Given the description of an element on the screen output the (x, y) to click on. 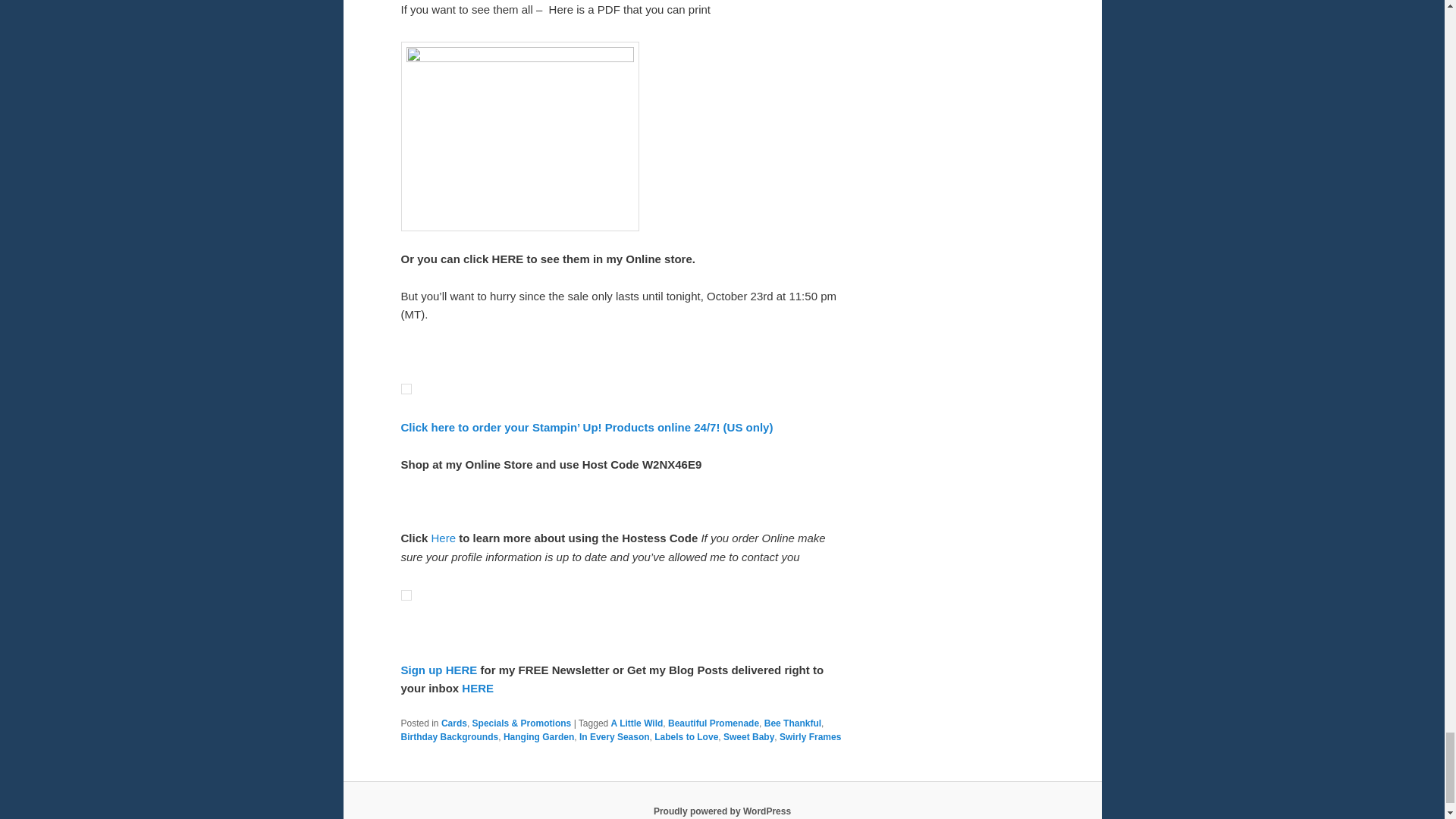
Semantic Personal Publishing Platform (721, 810)
